Given the description of an element on the screen output the (x, y) to click on. 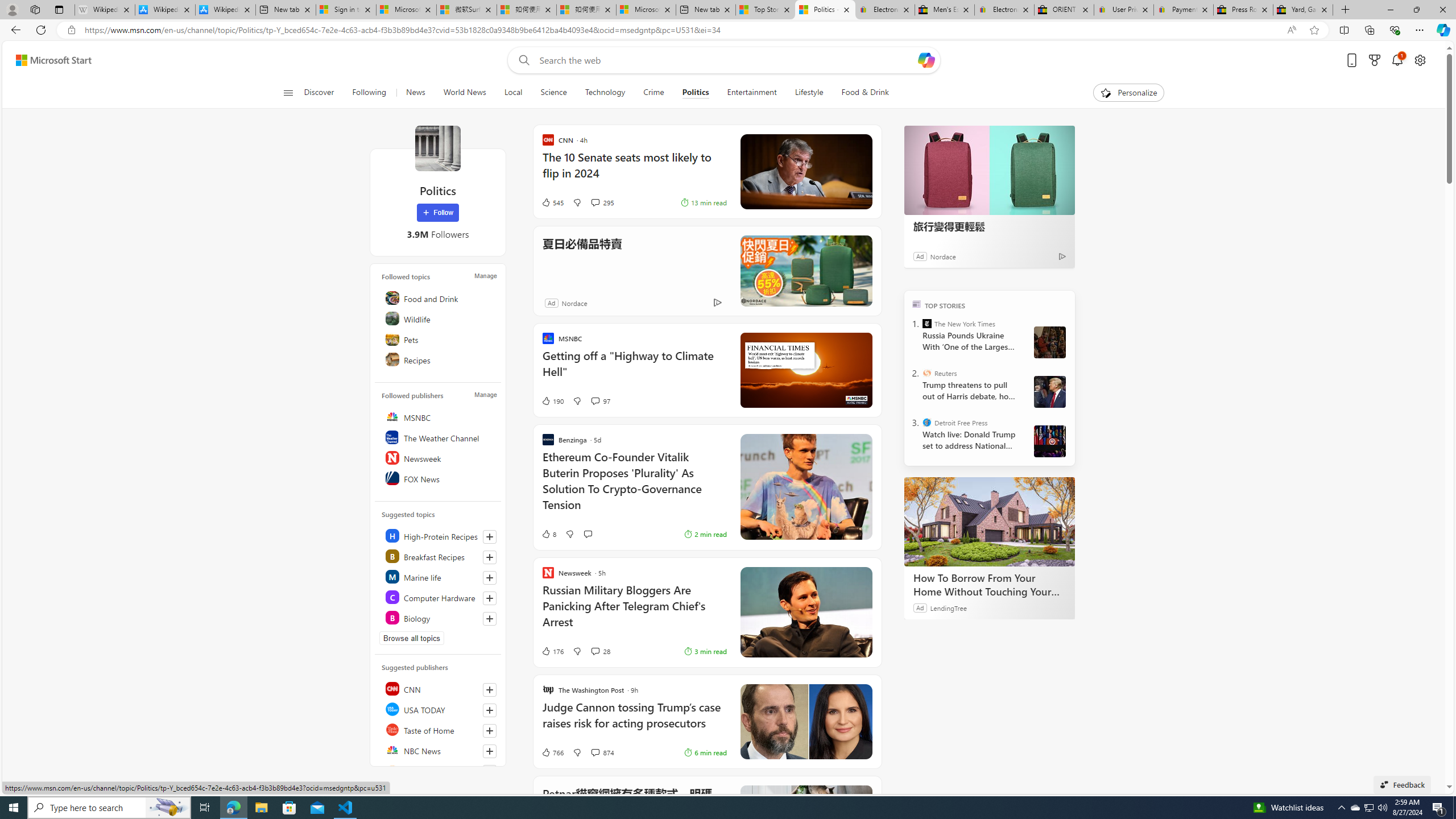
View comments 874 Comment (594, 751)
Reuters (439, 770)
Reuters (927, 372)
